Given the description of an element on the screen output the (x, y) to click on. 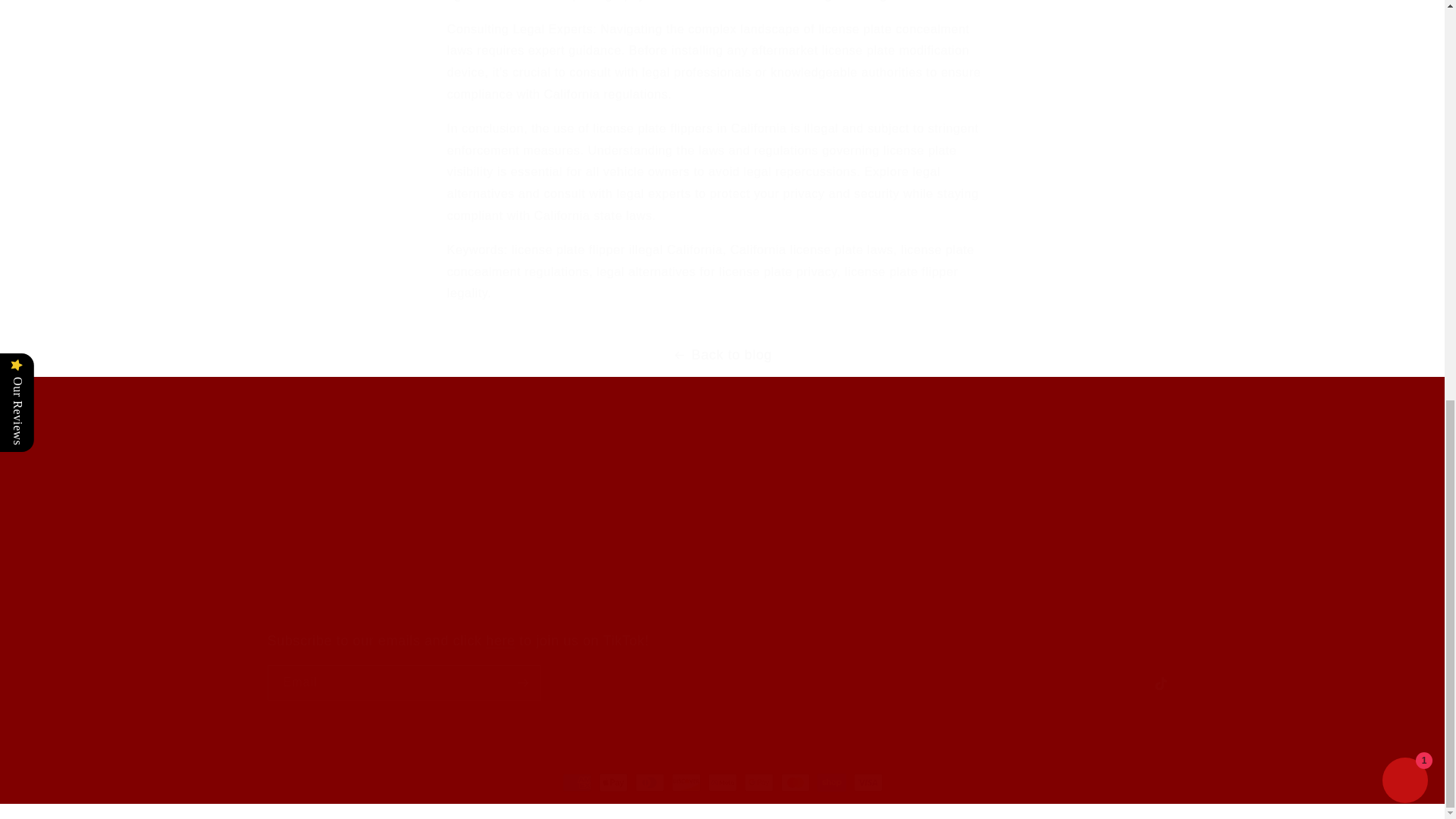
Search (284, 479)
TikTok (1159, 684)
Terms of Service (309, 530)
Return and Refund Policy (332, 611)
Privacy Policy (302, 504)
Shopify online store chat (1404, 11)
here (500, 640)
Billing Terms and Conditions (339, 557)
Shipping Policy (306, 584)
